Given the description of an element on the screen output the (x, y) to click on. 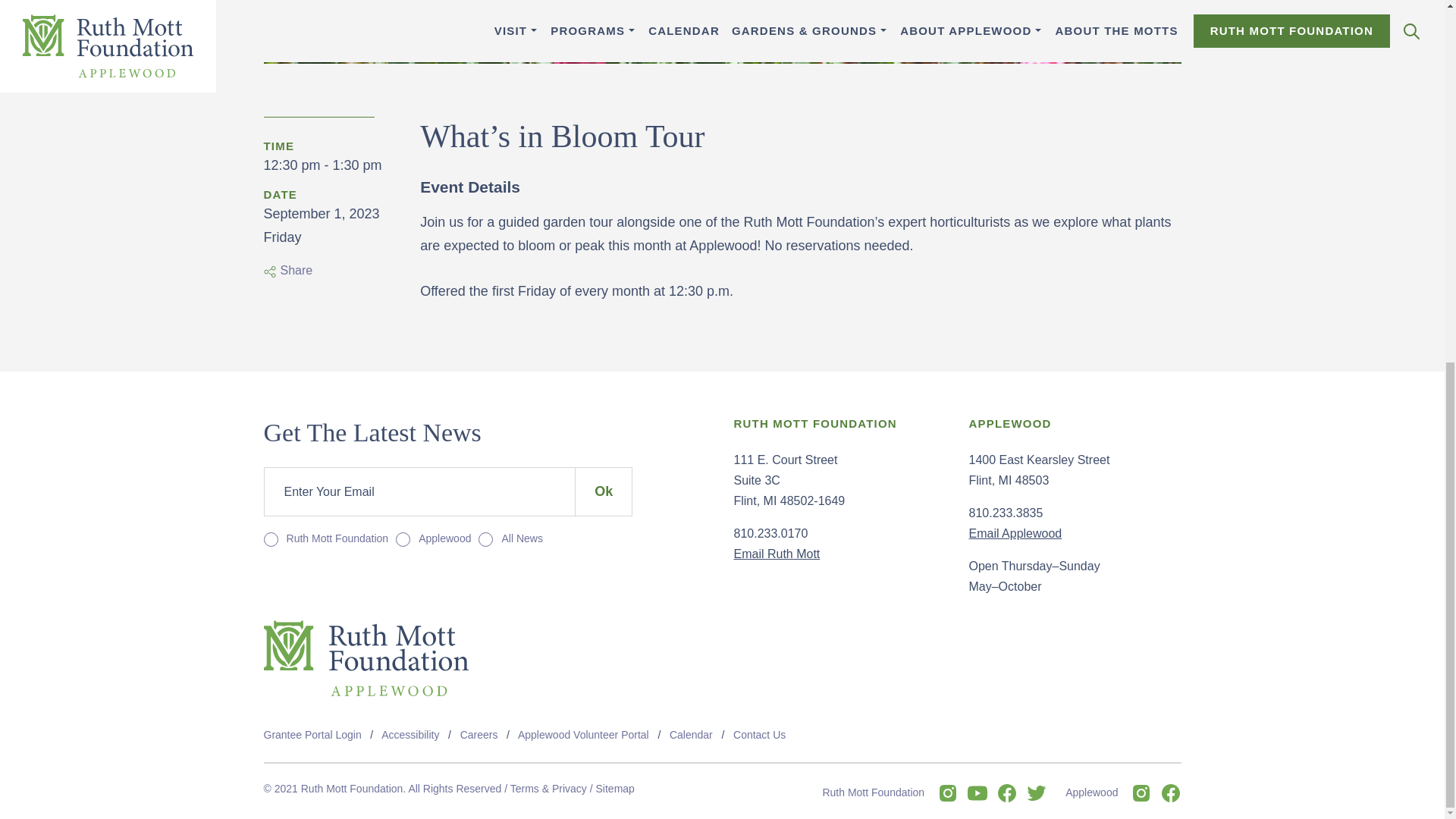
Twitter Logo (1036, 792)
Ok (603, 491)
Instagram Logo (947, 792)
Facebook Logo (1006, 792)
Youtube Logo (977, 792)
Applewood (401, 540)
Facebook Logo (1170, 792)
All News (484, 540)
Ruth Mott Foundation (268, 540)
Instagram Logo (1141, 792)
